Given the description of an element on the screen output the (x, y) to click on. 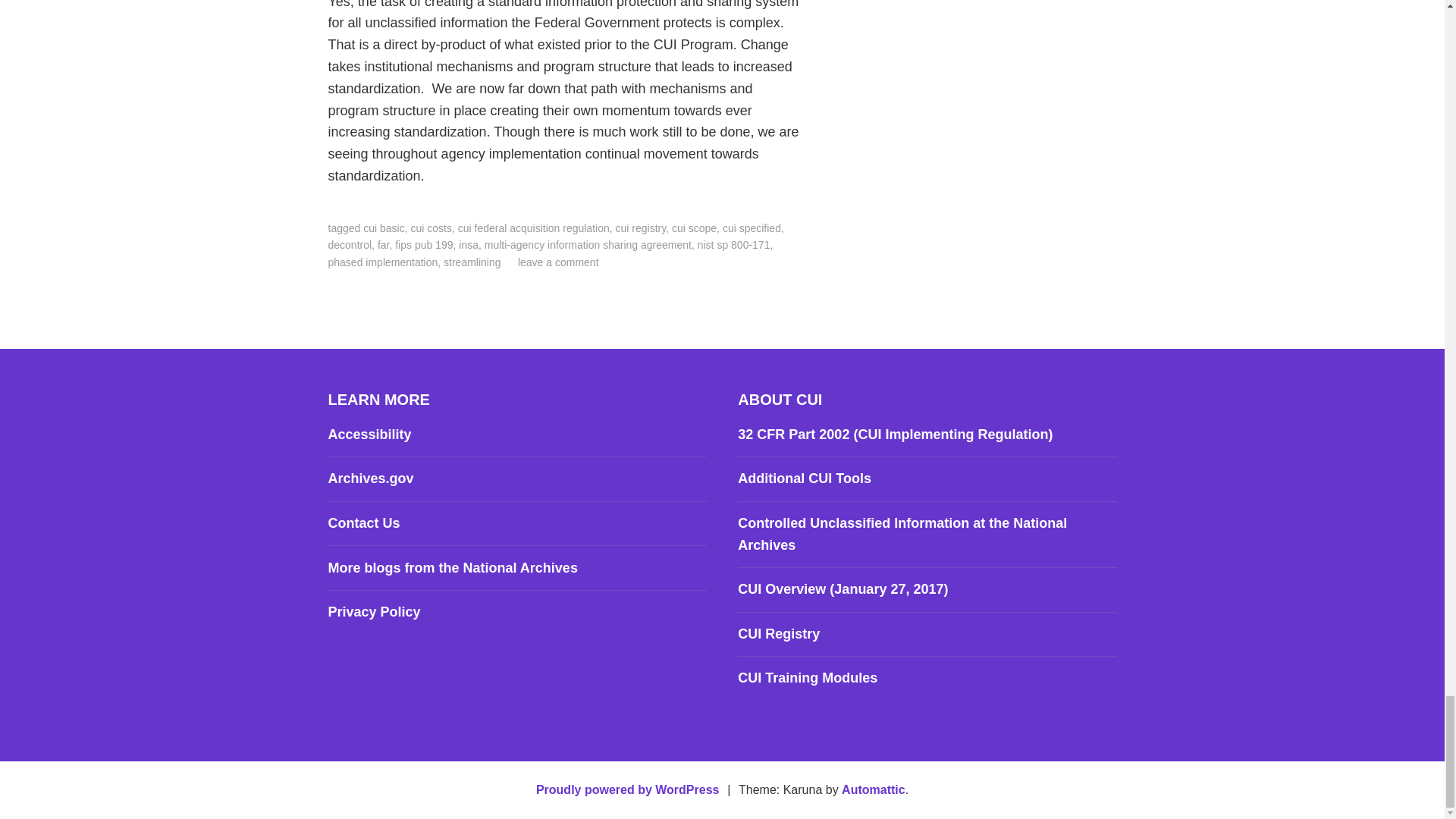
Coversheets, trifolds, and other resources (804, 478)
multi-agency information sharing agreement (587, 244)
cui specified (751, 227)
National Archives privacy policy (373, 611)
decontrol (349, 244)
far (383, 244)
Controlled Unclassified Information page on Archives.gov (902, 533)
nist sp 800-171 (733, 244)
Federal Register Rule Addressing CUI (895, 434)
Contact information (362, 522)
fips pub 199 (423, 244)
cui basic (383, 227)
U.S. National Archives Blogroll (451, 567)
